Given the description of an element on the screen output the (x, y) to click on. 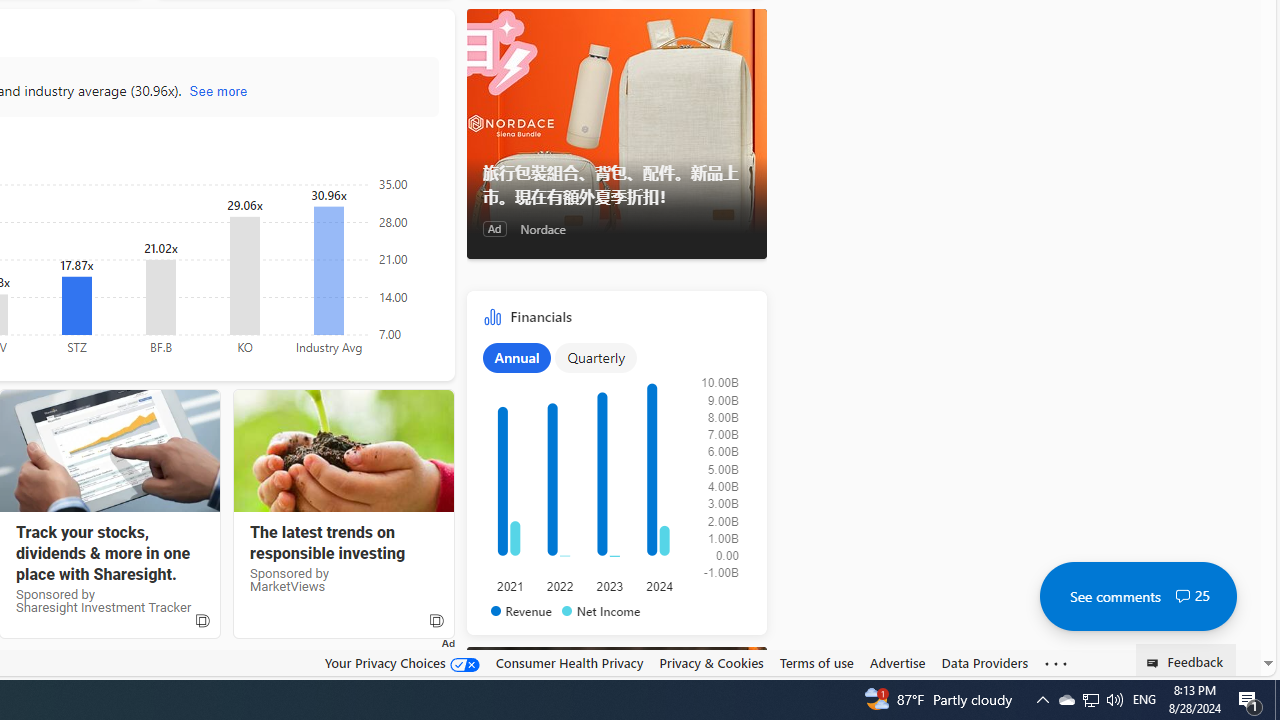
Class: chartSvg (612, 477)
Class: cwt-icon-vector (1182, 596)
Privacy & Cookies (711, 662)
Your Privacy Choices (401, 663)
Data Providers (983, 662)
Class: feedback_link_icon-DS-EntryPoint1-1 (1156, 663)
Data Providers (983, 663)
MarketViews (343, 451)
Class: oneFooter_seeMore-DS-EntryPoint1-1 (1055, 663)
Quarterly (596, 357)
